Given the description of an element on the screen output the (x, y) to click on. 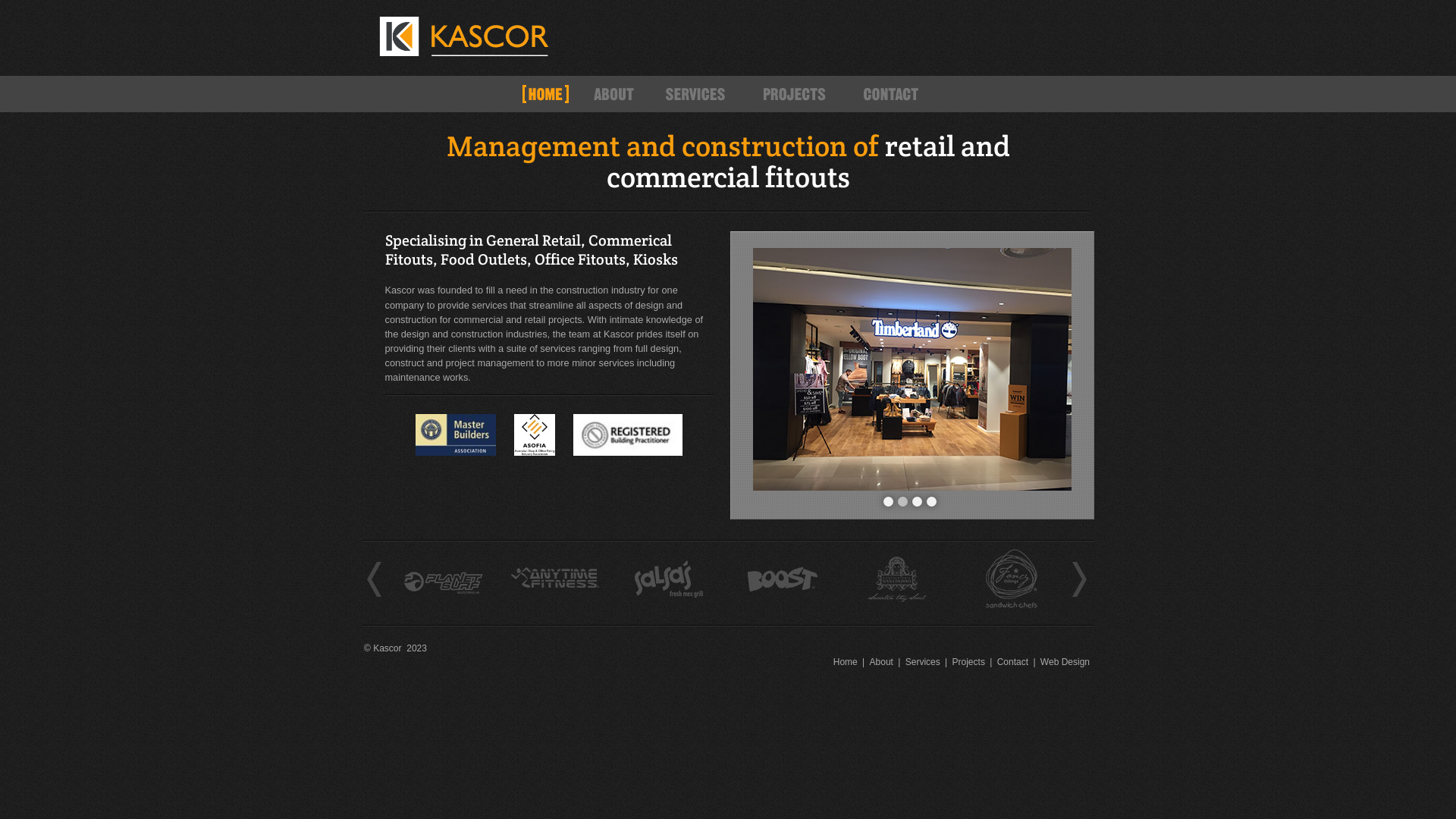
2 Element type: text (902, 501)
3 Element type: text (917, 501)
Projects Element type: text (968, 661)
1 Element type: text (887, 501)
Contact Element type: text (894, 93)
Services Element type: text (922, 661)
Home Element type: text (845, 661)
Web Design Element type: text (1065, 661)
About Element type: text (881, 661)
4 Element type: text (931, 501)
Projects Element type: text (795, 93)
Services Element type: text (696, 93)
Contact Element type: text (1012, 661)
Home Element type: text (545, 93)
About Us Element type: text (613, 93)
